Given the description of an element on the screen output the (x, y) to click on. 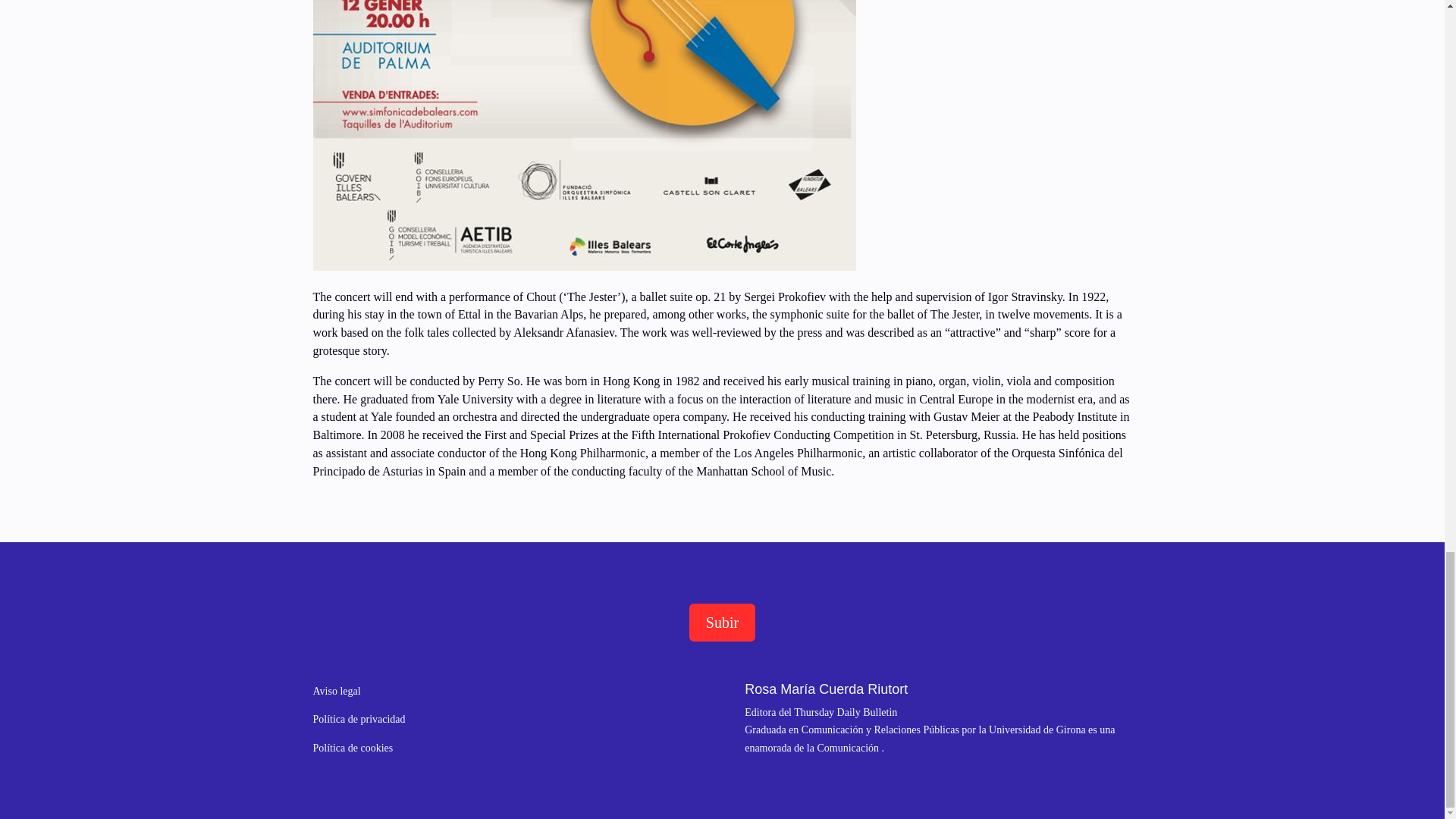
Subir (721, 621)
Aviso legal (336, 690)
Aviso legal (336, 690)
